Given the description of an element on the screen output the (x, y) to click on. 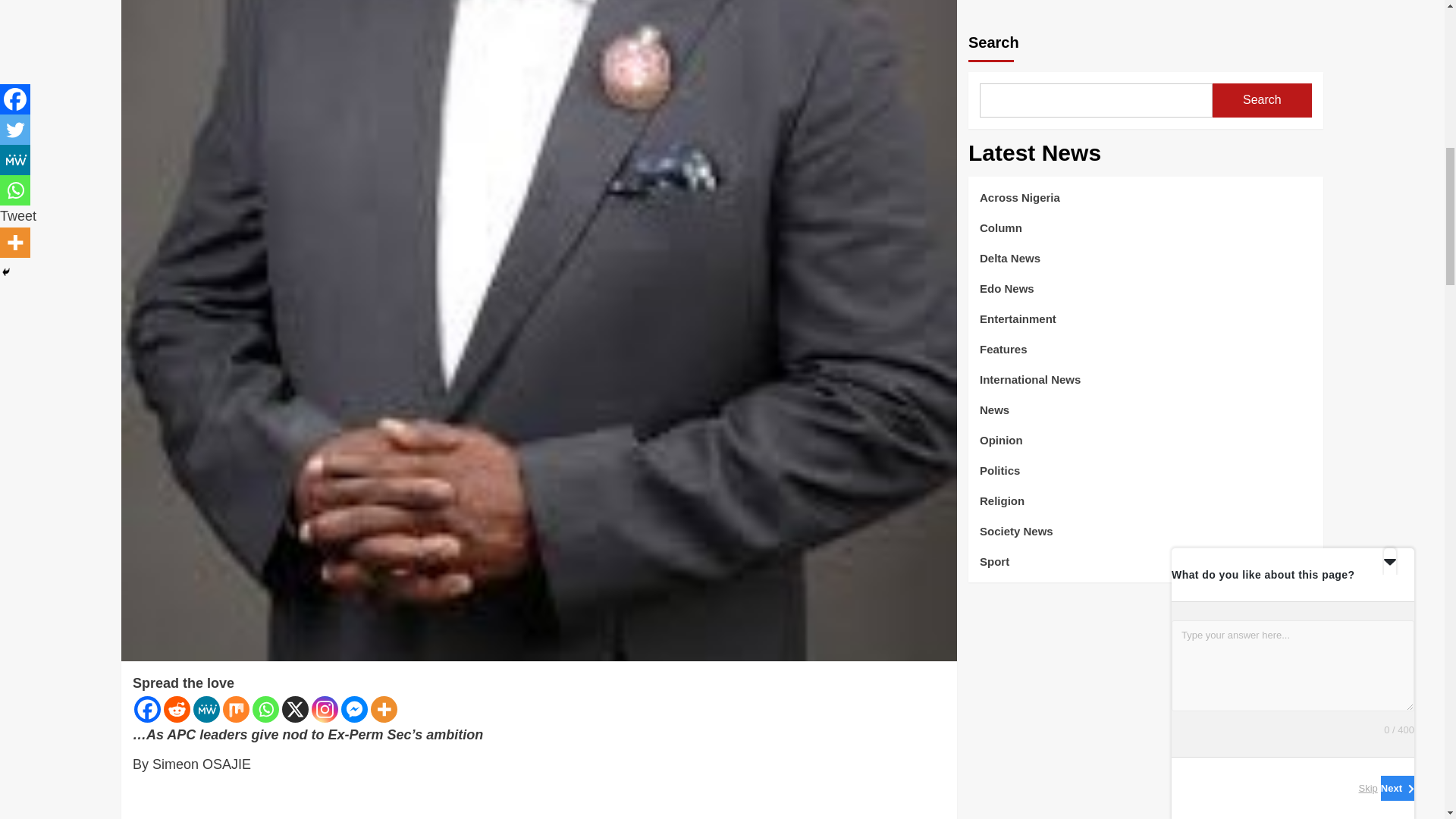
X (295, 709)
Advertisement (538, 800)
Instagram (324, 709)
Reddit (176, 709)
Mix (235, 709)
More (384, 709)
Facebook (146, 709)
MeWe (206, 709)
Whatsapp (265, 709)
